Given the description of an element on the screen output the (x, y) to click on. 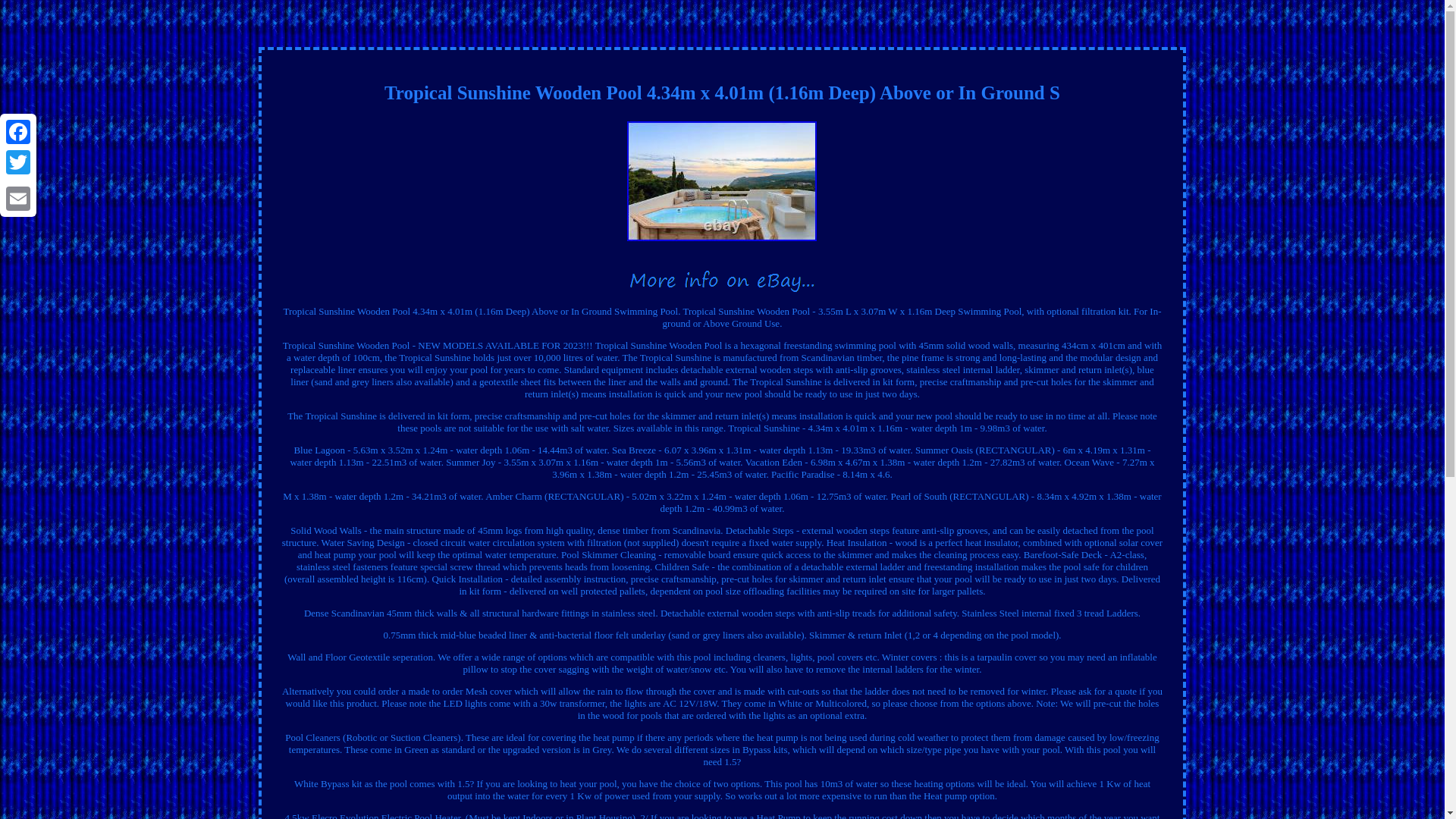
Facebook (17, 132)
Twitter (17, 162)
Email (17, 198)
